Given the description of an element on the screen output the (x, y) to click on. 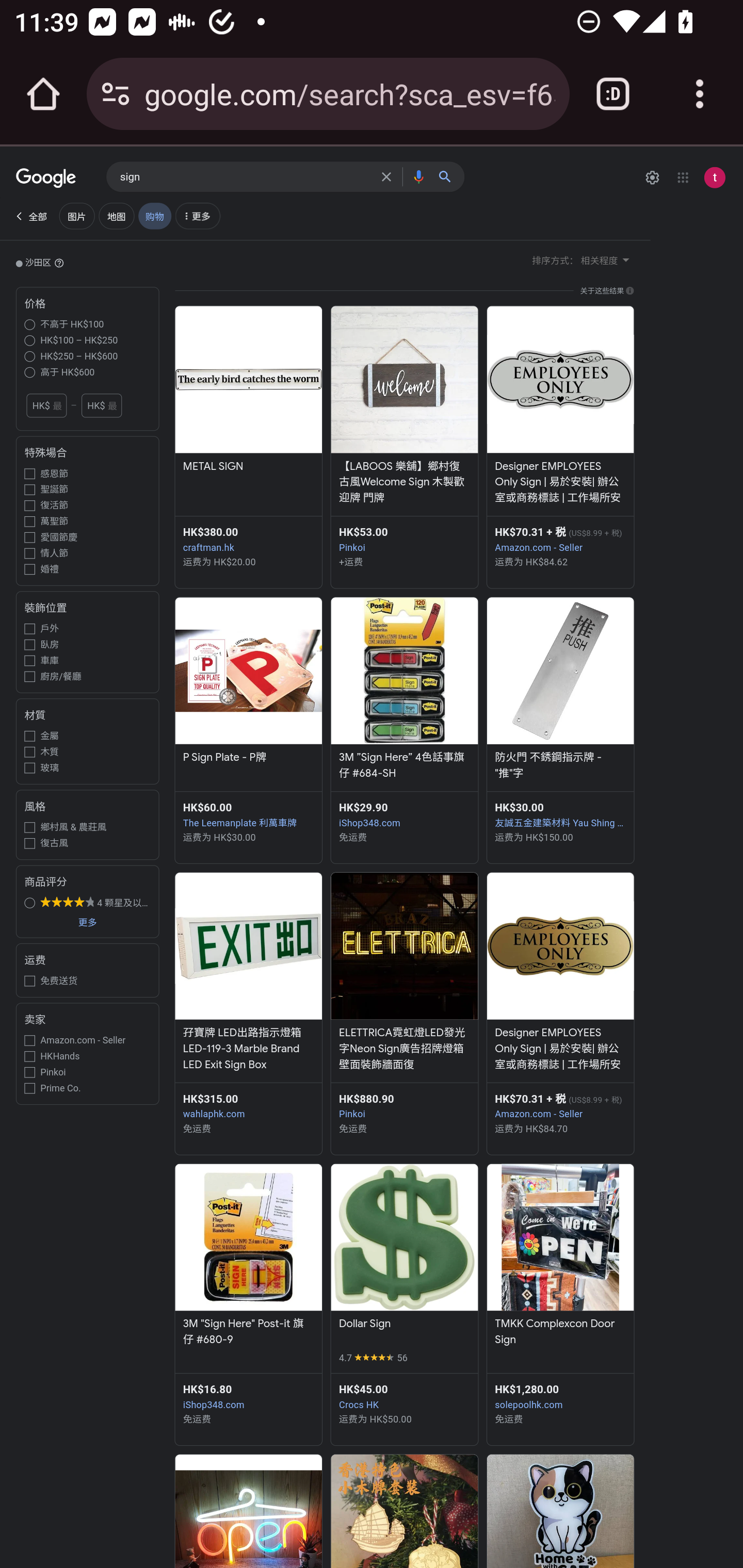
Open the home page (43, 93)
Connection is secure (115, 93)
Switch or close tabs (612, 93)
Customize and control Google Chrome (699, 93)
清除 (389, 176)
按语音搜索 (418, 176)
Google 搜索 (448, 176)
设置 (652, 177)
Google 应用 (682, 177)
Google 账号： test appium (testappium002@gmail.com) (714, 177)
Google (46, 179)
sign (245, 177)
全部 (30, 215)
图片 (75, 215)
地图 (116, 215)
购物 (154, 215)
More Filters (197, 217)
排序方式： 相关程度 (582, 259)
METAL SIGN (248, 466)
【LABOOS 樂舖】鄉村復古風Welcome Sign 木製歡迎牌 門牌 (404, 482)
HK$380.00. craftman.hk HK$380.00. craftman.hk (248, 539)
HK$53.00. Pinkoi HK$53.00. Pinkoi (404, 539)
+运费 . 在新窗口中访问Pinkoi的网站 +运费 . 在新窗口中访问Pinkoi的网站 (404, 561)
P Sign Plate - P牌 (248, 758)
3M ”Sign Here” 4色話事旗仔 #684-SH (404, 766)
防火門 不銹鋼指示牌 - "推"字 (560, 766)
HK$29.90. iShop348.com HK$29.90. iShop348.com (404, 814)
ELETTRICA霓虹燈LED發光字Neon Sign廣告招牌燈箱壁面裝飾牆面復 (404, 1049)
HK$315.00. wahlaphk.com HK$315.00. wahlaphk.com (248, 1105)
HK$880.90. Pinkoi HK$880.90. Pinkoi (404, 1105)
免运费 . 在新窗口中访问Pinkoi的网站 免运费 . 在新窗口中访问Pinkoi的网站 (404, 1128)
3M "Sign Here" Post-it 旗仔 #680-9 (248, 1332)
TMKK Complexcon Door Sign (560, 1332)
HK$16.80. iShop348.com HK$16.80. iShop348.com (248, 1396)
HK$45.00. Crocs HK HK$45.00. Crocs HK (404, 1396)
